Given the description of an element on the screen output the (x, y) to click on. 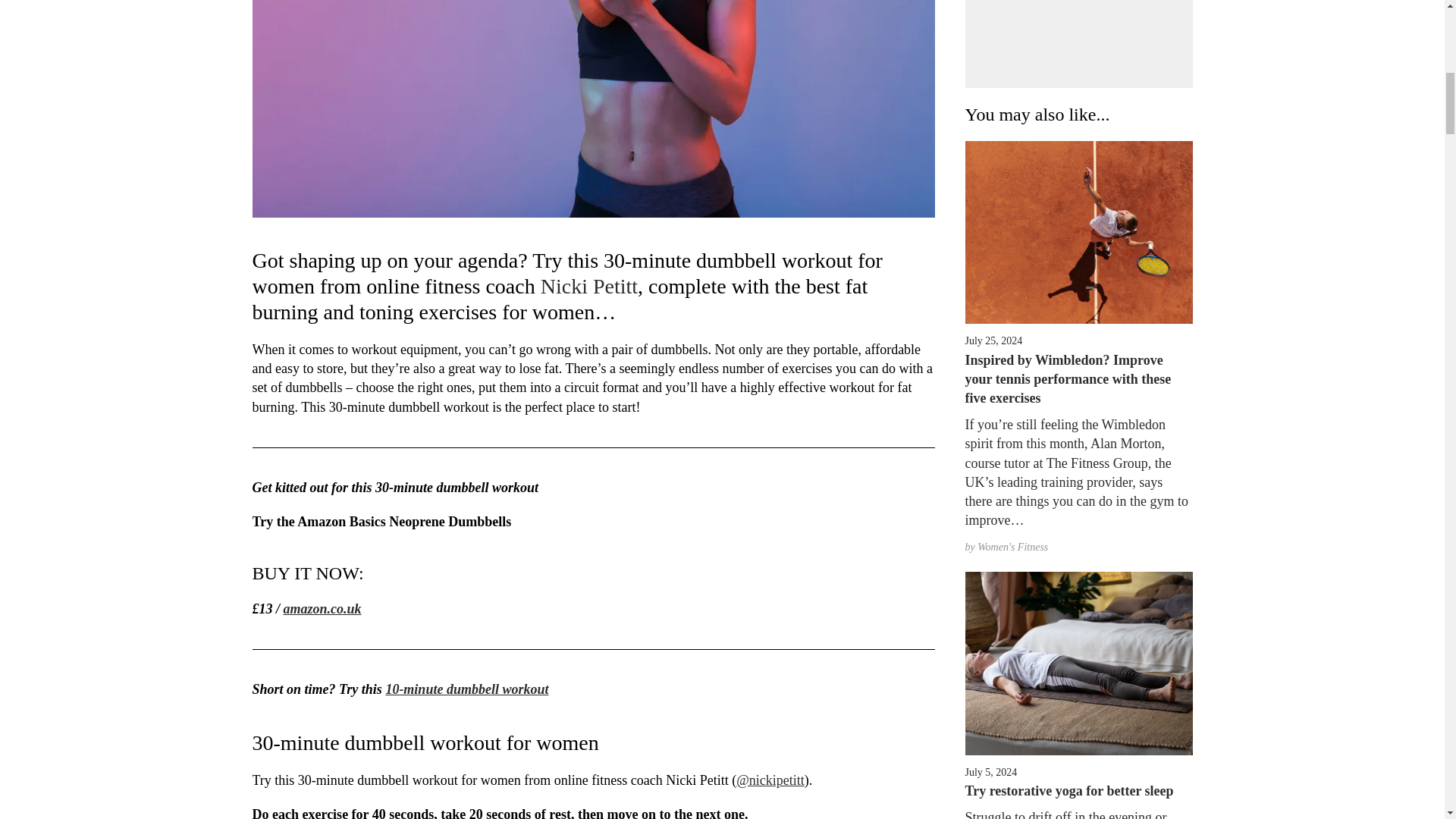
10-minute dumbbell workout (466, 688)
amazon.co.uk (322, 608)
Nicki Petitt (588, 286)
